Given the description of an element on the screen output the (x, y) to click on. 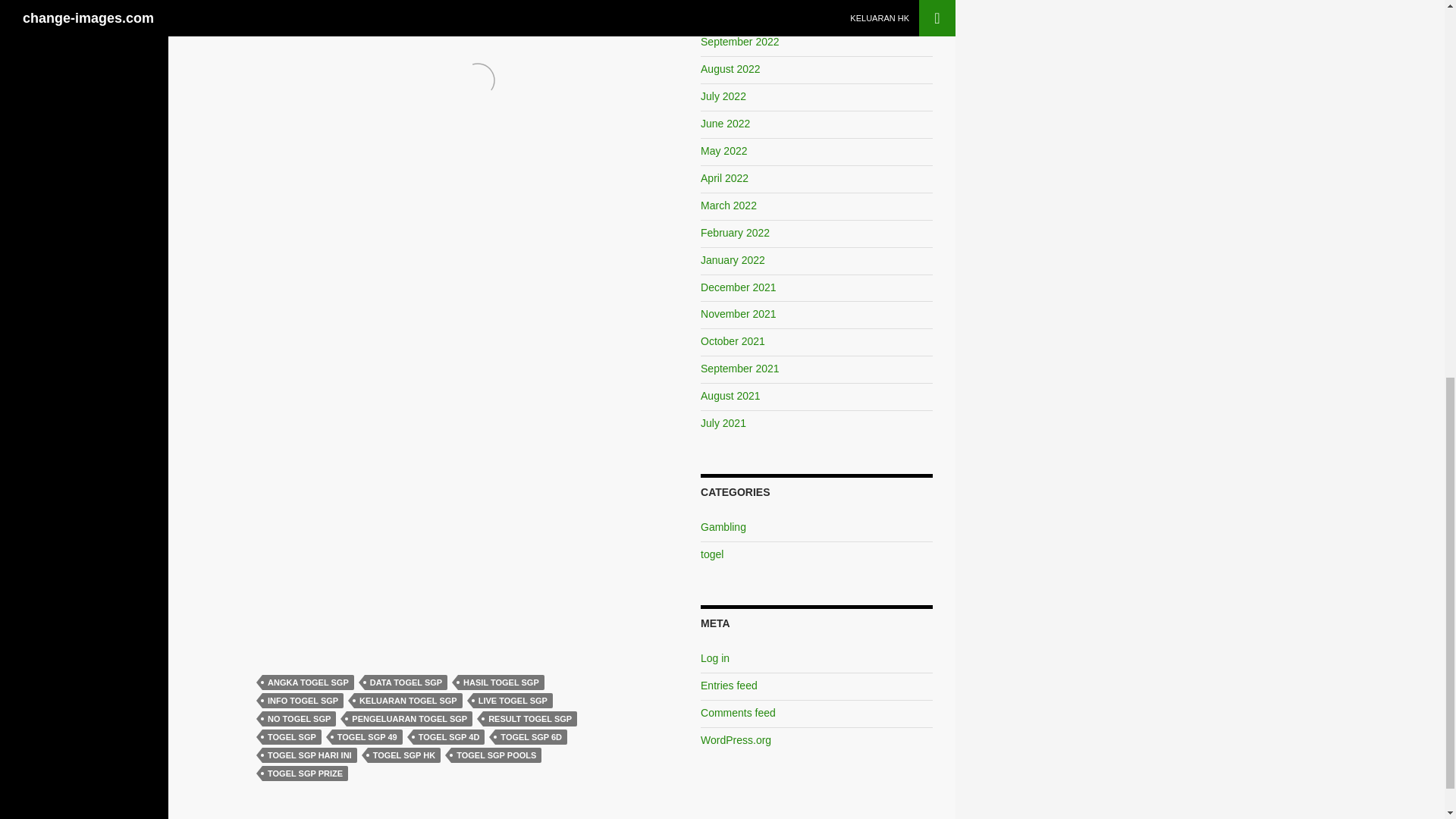
TOGEL SGP HK (404, 754)
TOGEL SGP 4D (448, 736)
ANGKA TOGEL SGP (307, 682)
RESULT TOGEL SGP (529, 718)
TOGEL SGP HARI INI (309, 754)
INFO TOGEL SGP (302, 700)
TOGEL SGP 6D (531, 736)
HASIL TOGEL SGP (501, 682)
LIVE TOGEL SGP (513, 700)
TOGEL SGP PRIZE (304, 773)
